Given the description of an element on the screen output the (x, y) to click on. 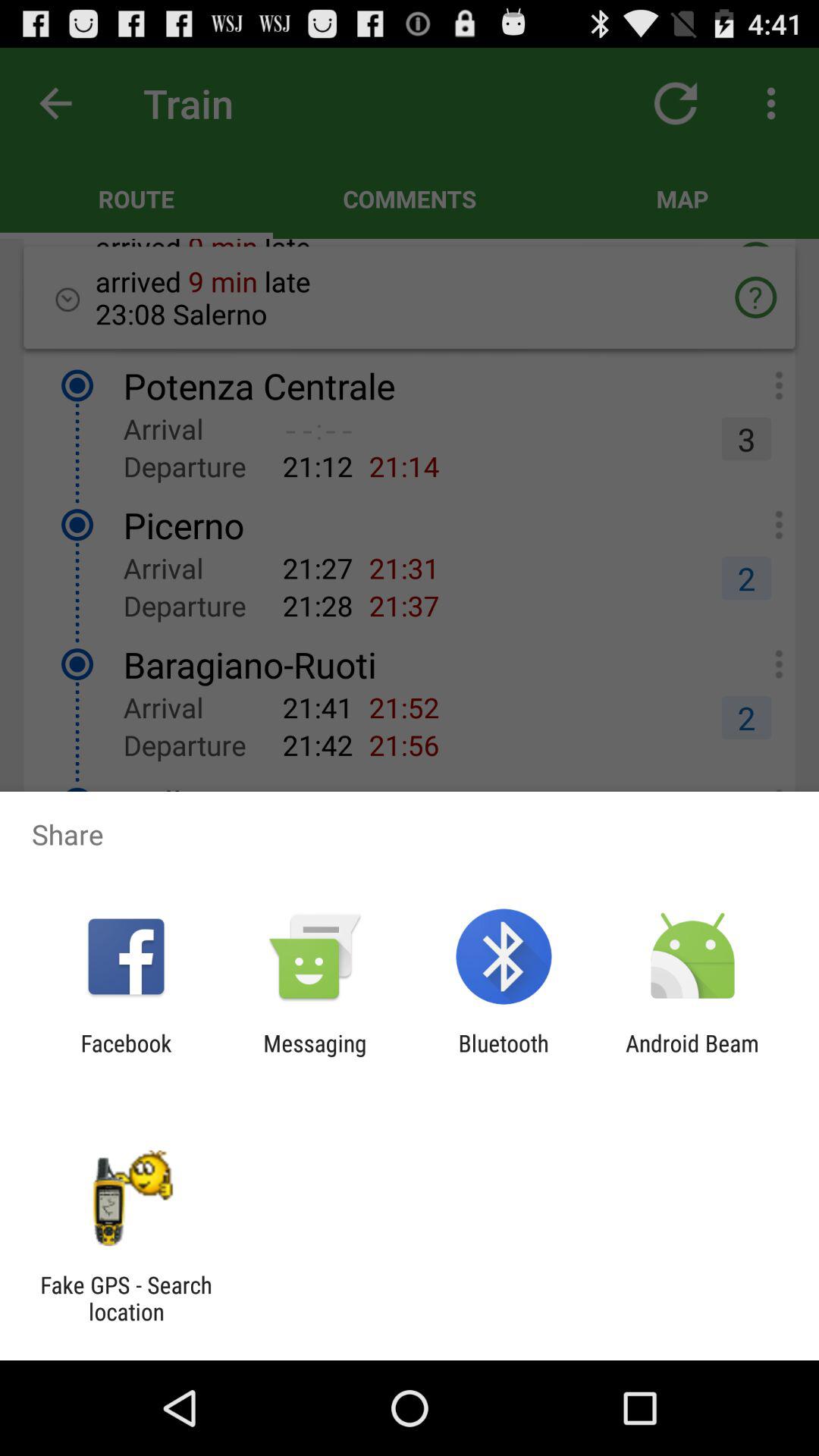
turn on the android beam (692, 1056)
